Given the description of an element on the screen output the (x, y) to click on. 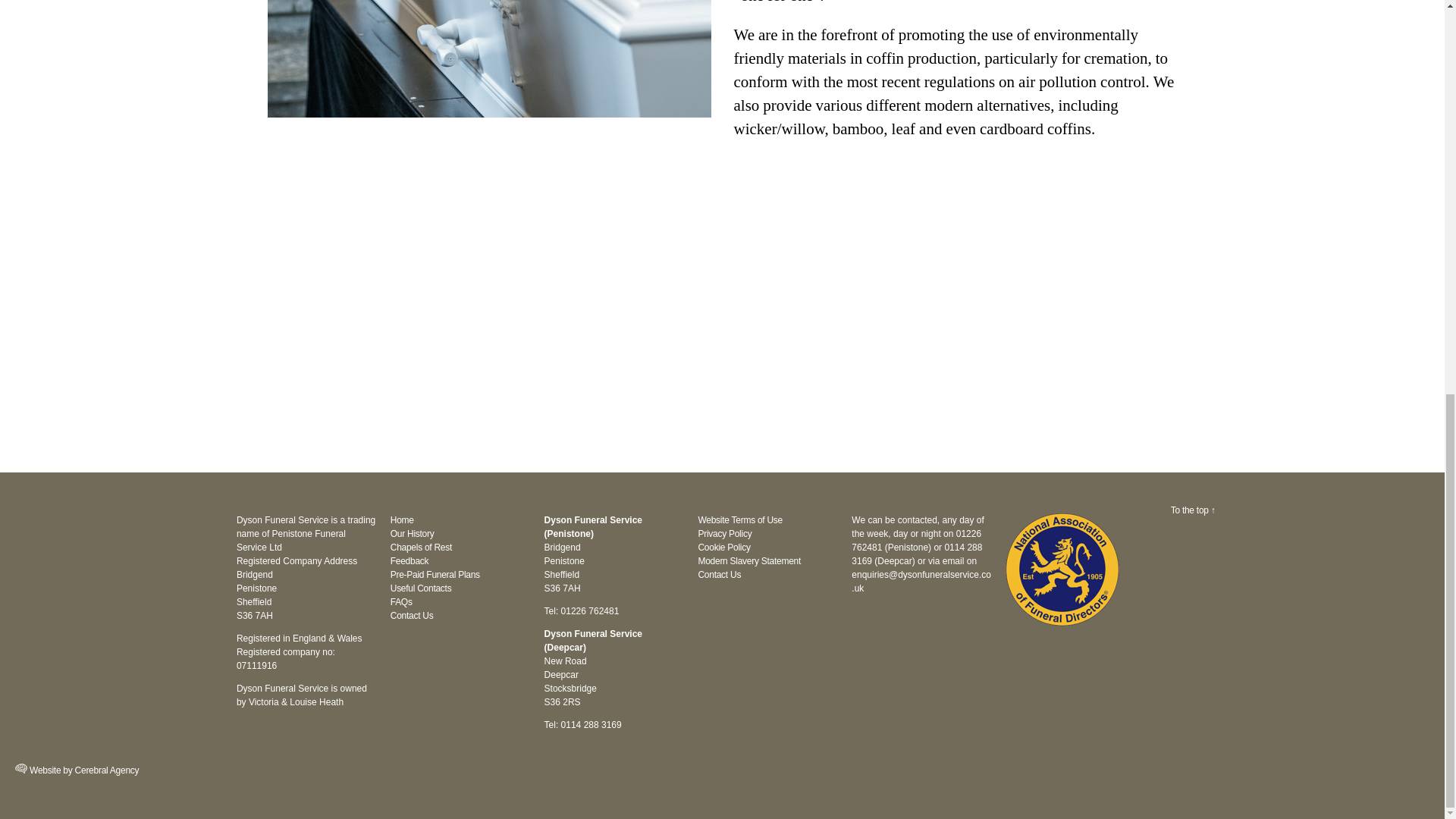
Cerebral Agency (20, 768)
